Given the description of an element on the screen output the (x, y) to click on. 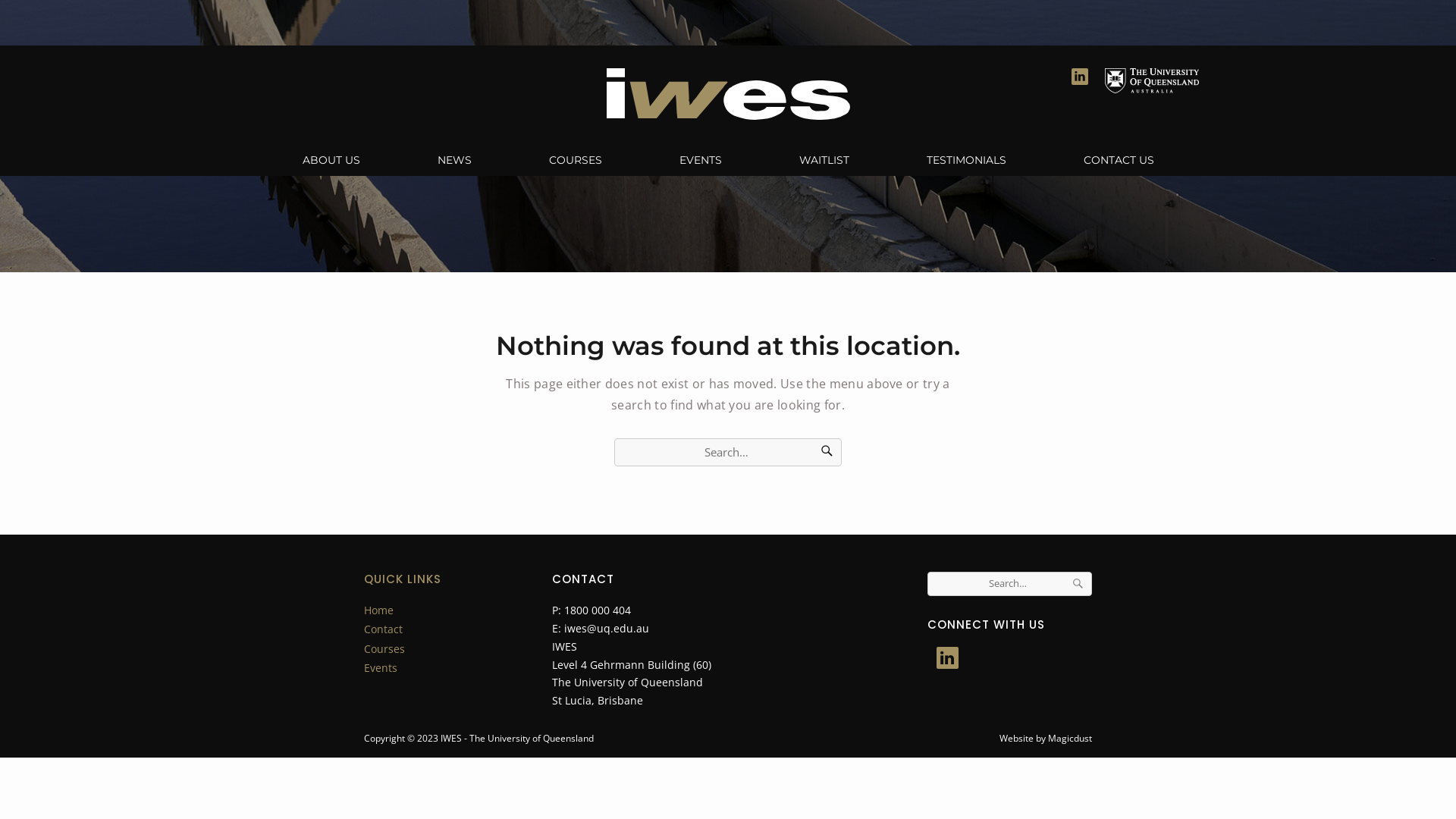
Home Element type: text (378, 609)
CONTACT US Element type: text (1117, 159)
Courses Element type: text (384, 648)
Search Element type: hover (1078, 583)
Contact Element type: text (383, 628)
Search Element type: hover (826, 452)
COURSES Element type: text (575, 159)
NEWS Element type: text (453, 159)
ABOUT US Element type: text (330, 159)
Return to homepage Element type: hover (727, 93)
Events Element type: text (380, 667)
TESTIMONIALS Element type: text (966, 159)
iwes@uq.edu.au Element type: text (606, 628)
EVENTS Element type: text (700, 159)
1800 000 404 Element type: text (597, 609)
WAITLIST Element type: text (824, 159)
